Given the description of an element on the screen output the (x, y) to click on. 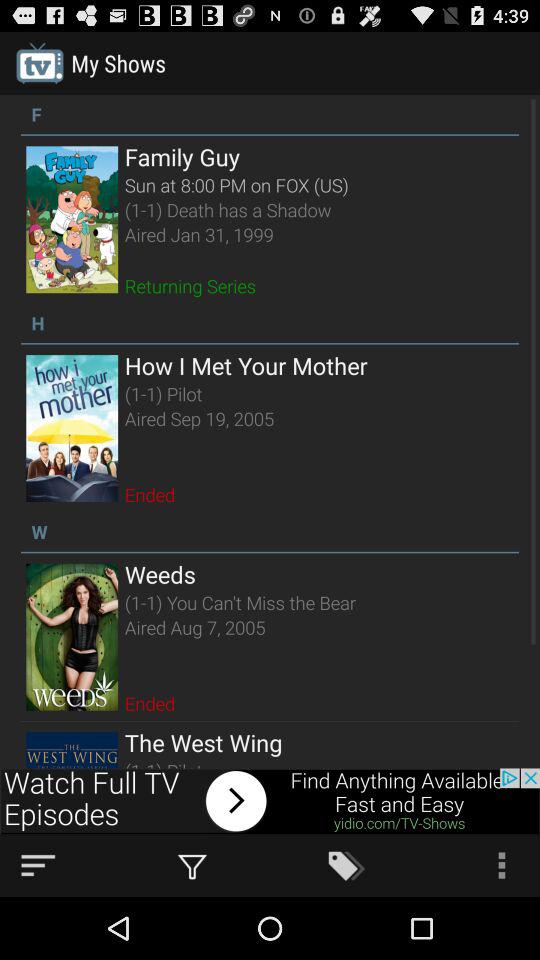
button for watch tv episodes (270, 801)
